Given the description of an element on the screen output the (x, y) to click on. 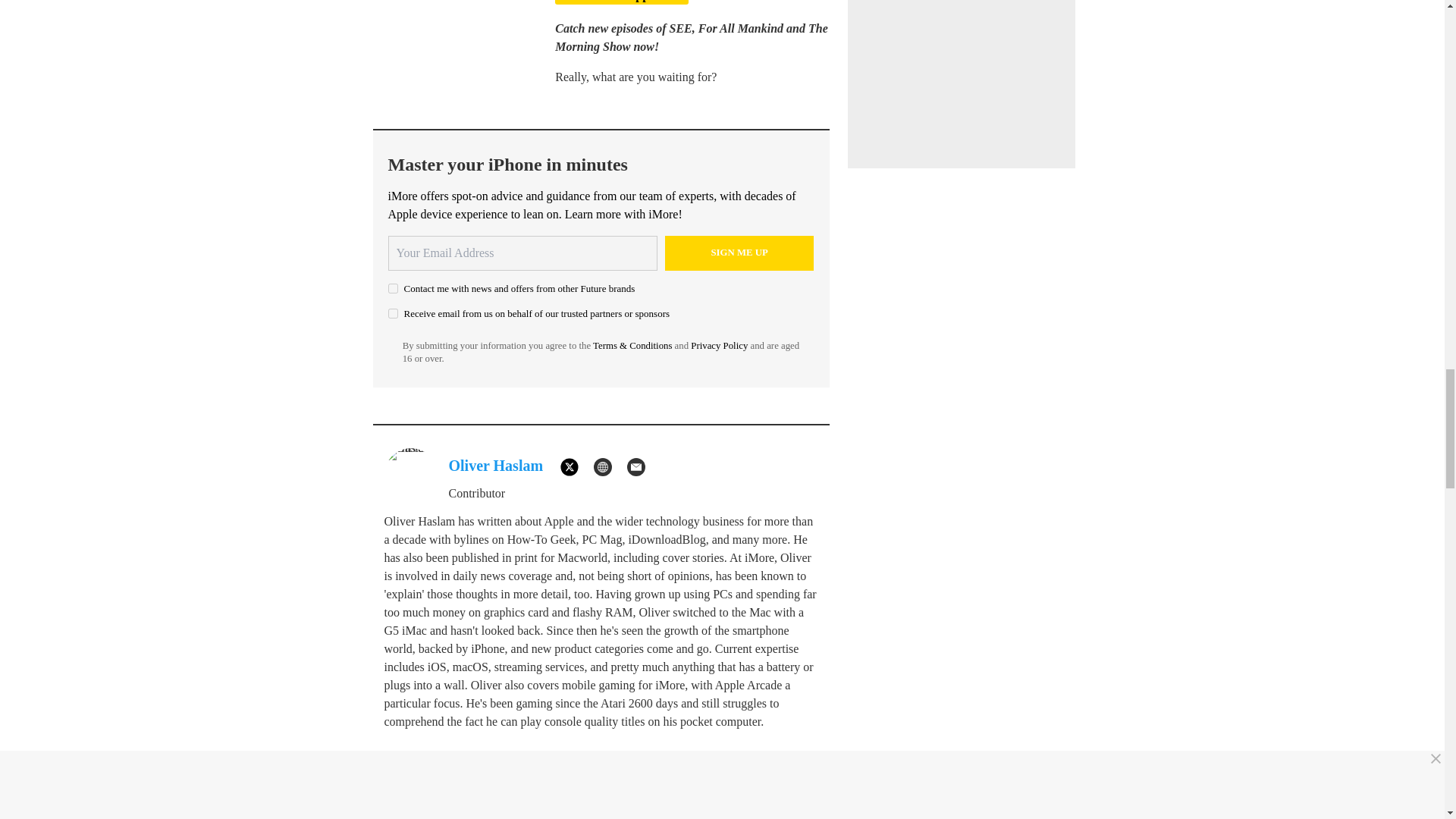
on (392, 288)
on (392, 313)
Sign me up (739, 253)
